Given the description of an element on the screen output the (x, y) to click on. 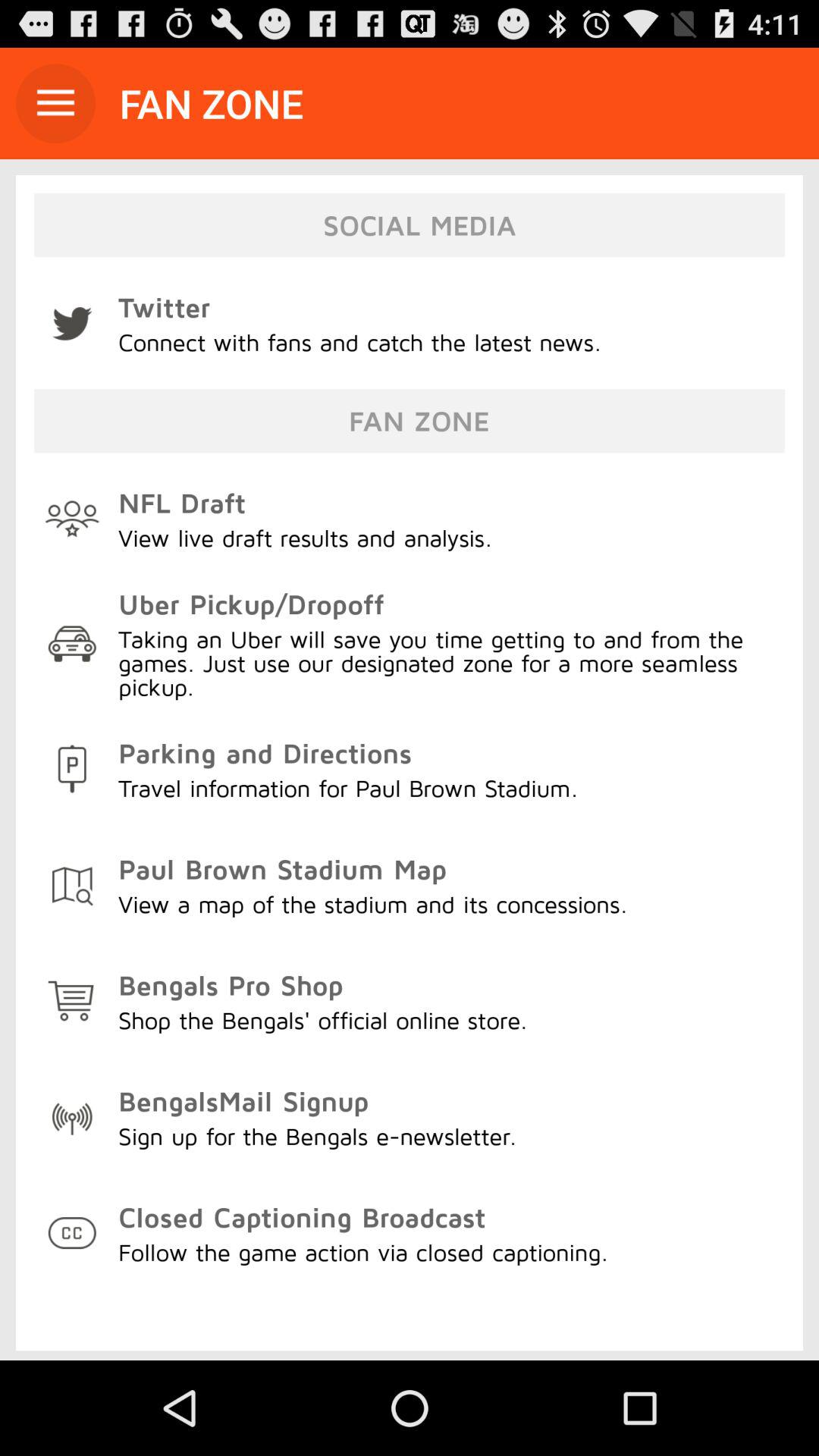
click item above the twitter (55, 103)
